Given the description of an element on the screen output the (x, y) to click on. 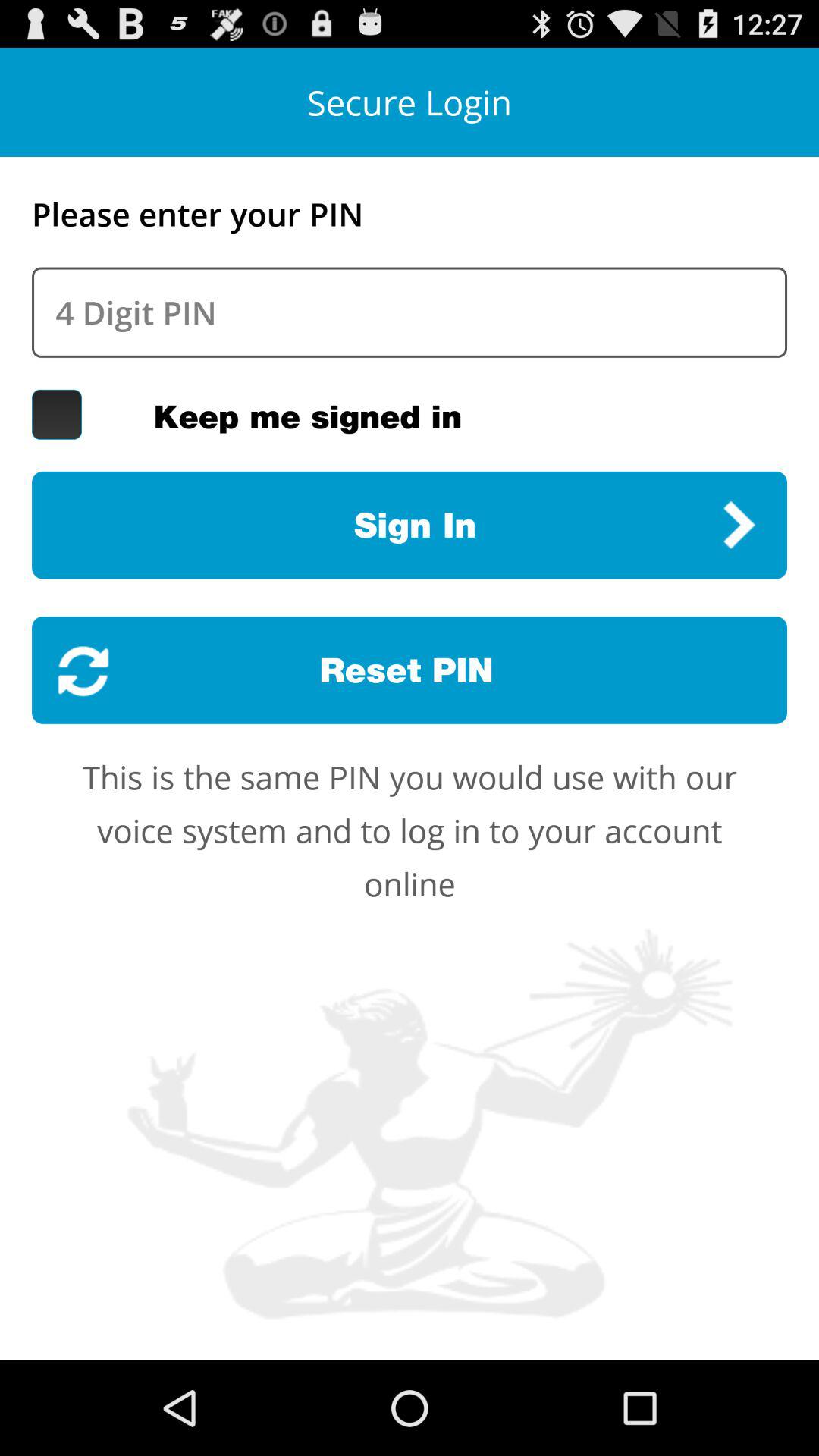
enter pin (409, 312)
